Given the description of an element on the screen output the (x, y) to click on. 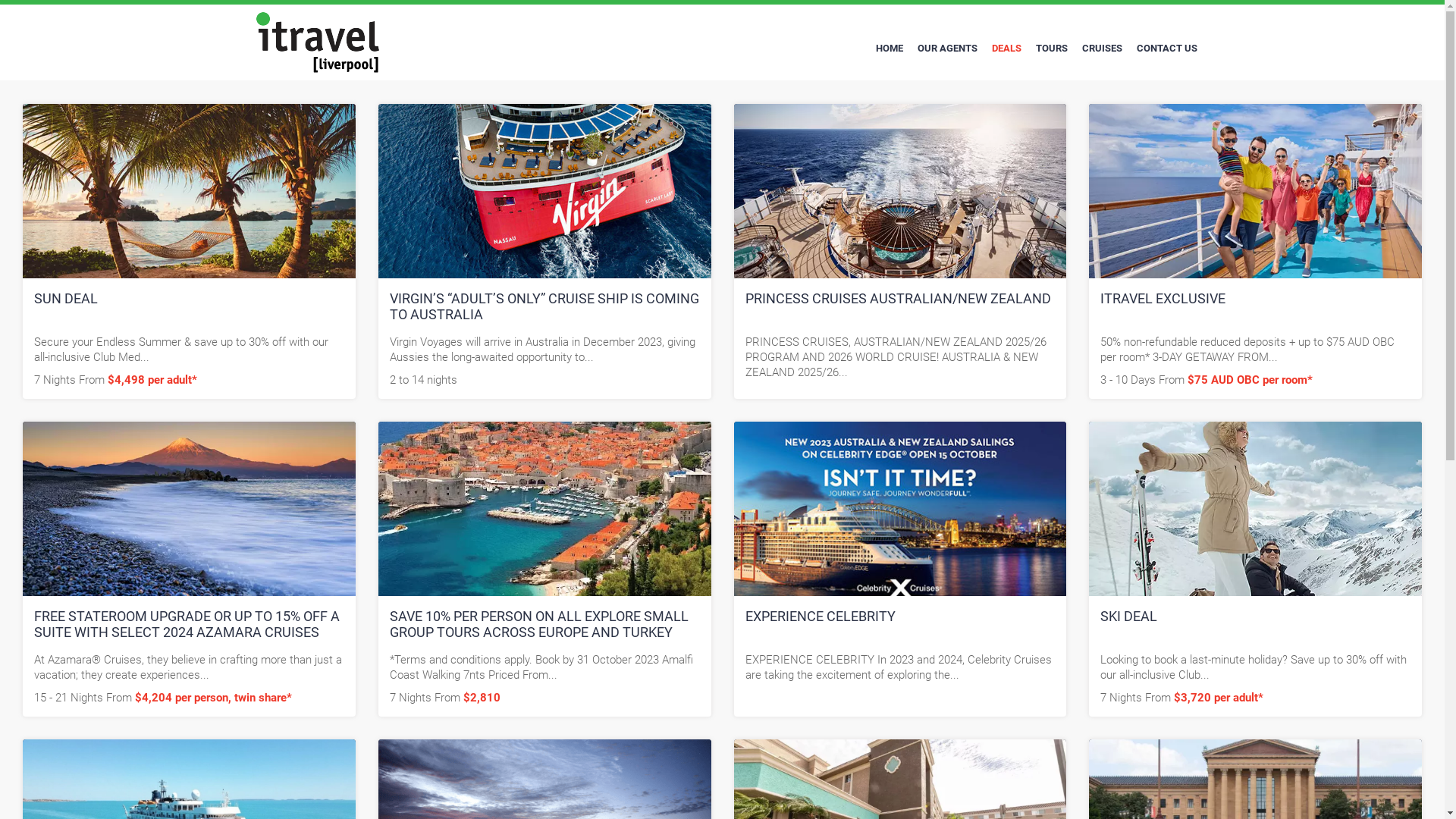
CONTACT US Element type: text (1166, 47)
itravelliverpool.com.au-logo Element type: hover (317, 42)
SKI DEAL Element type: text (1128, 616)
PRINCESS CRUISES AUSTRALIAN/NEW ZEALAND Element type: text (897, 298)
ITRAVEL EXCLUSIVE Element type: text (1162, 298)
OUR AGENTS Element type: text (946, 47)
HOME Element type: text (889, 47)
SUN DEAL Element type: text (65, 298)
Skip to main content Element type: text (0, 0)
CRUISES Element type: text (1102, 47)
TOURS Element type: text (1050, 47)
DEALS Element type: text (1005, 47)
EXPERIENCE CELEBRITY Element type: text (819, 616)
